Given the description of an element on the screen output the (x, y) to click on. 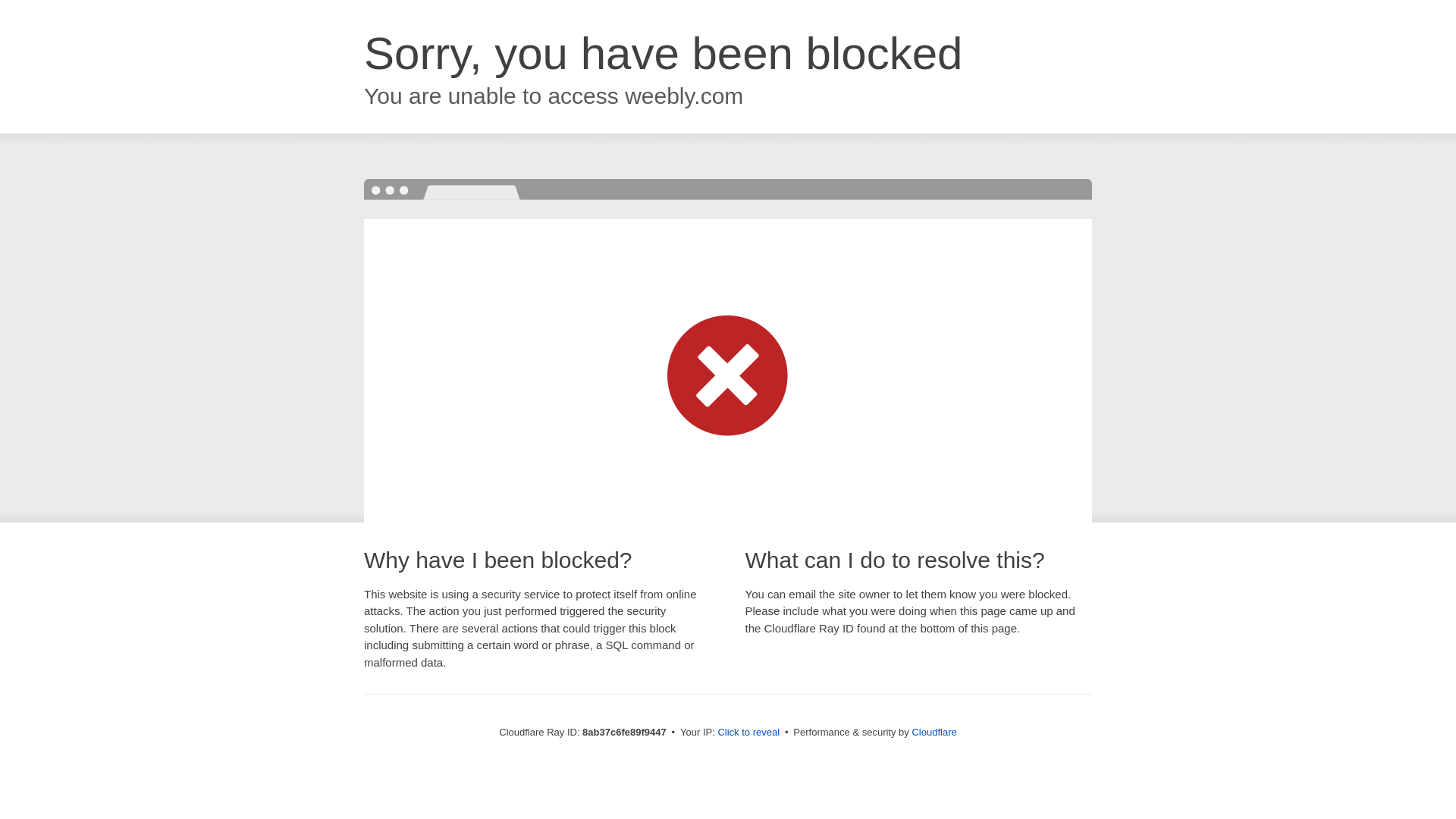
Cloudflare (933, 731)
Click to reveal (747, 732)
